Given the description of an element on the screen output the (x, y) to click on. 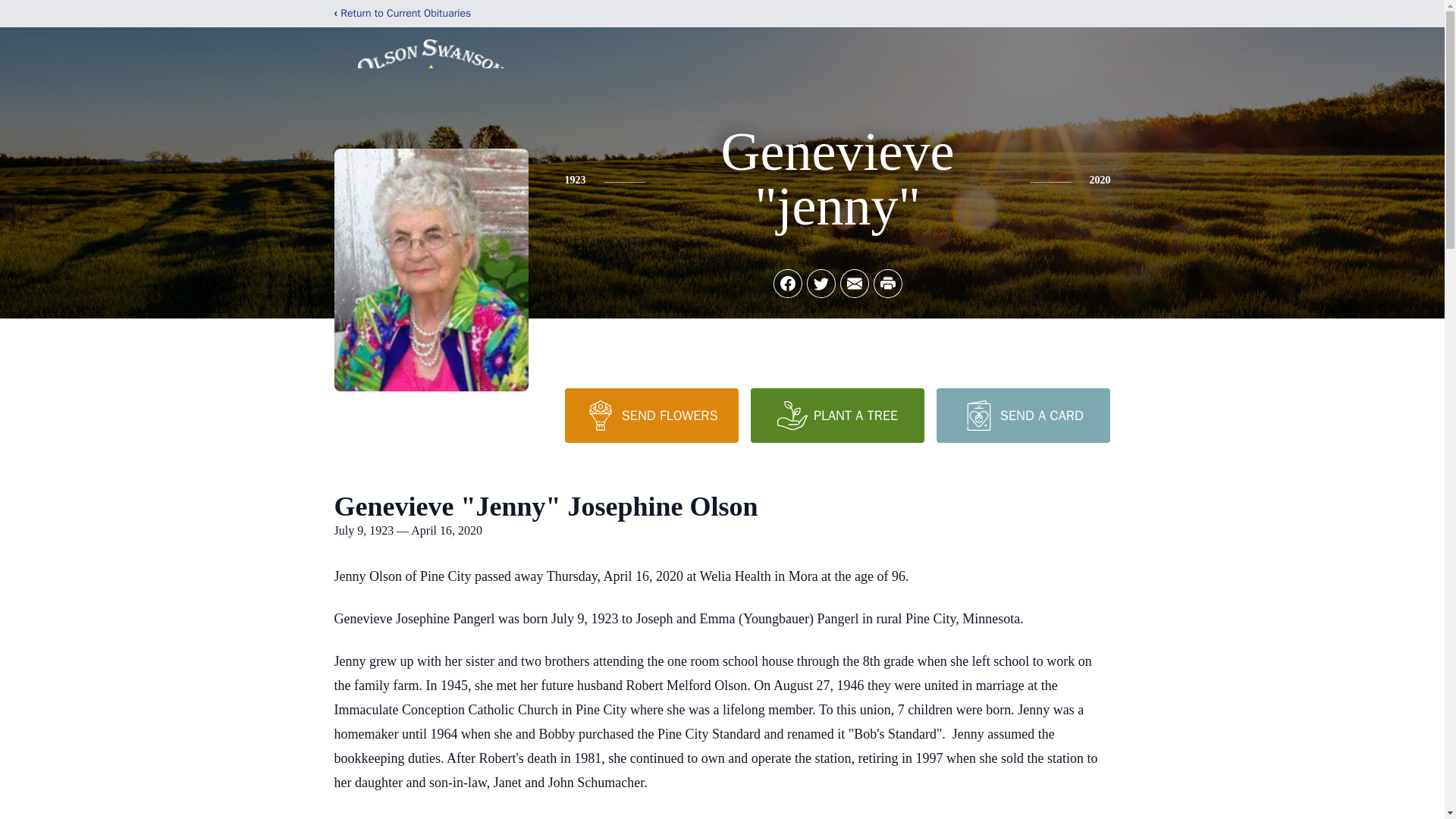
SEND A CARD (1022, 415)
PLANT A TREE (837, 415)
SEND FLOWERS (651, 415)
